Given the description of an element on the screen output the (x, y) to click on. 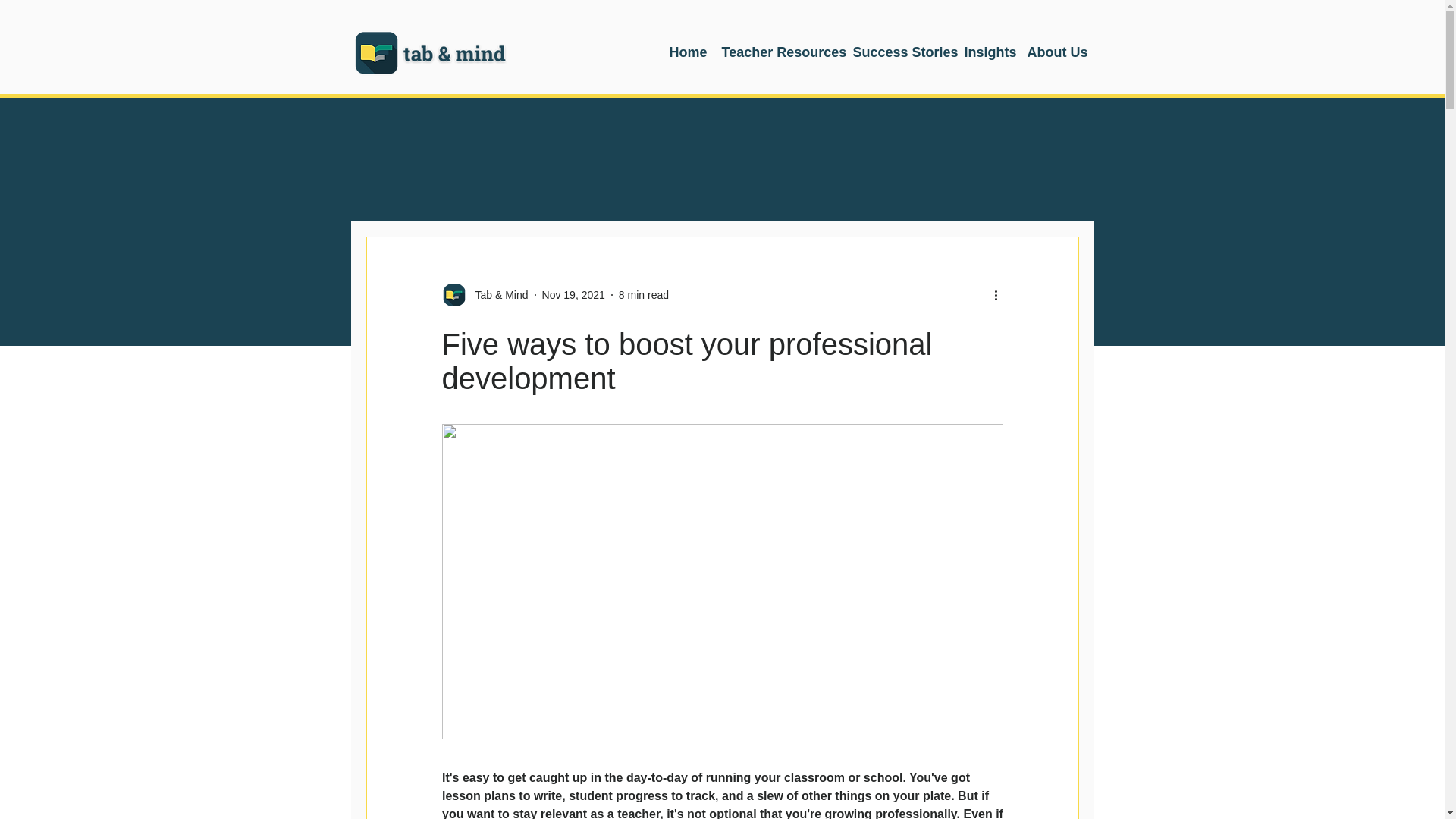
Teacher Resources (779, 52)
8 min read (643, 294)
Success Stories (900, 52)
Insights (988, 52)
Home (687, 52)
Nov 19, 2021 (573, 294)
About Us (1054, 52)
